Given the description of an element on the screen output the (x, y) to click on. 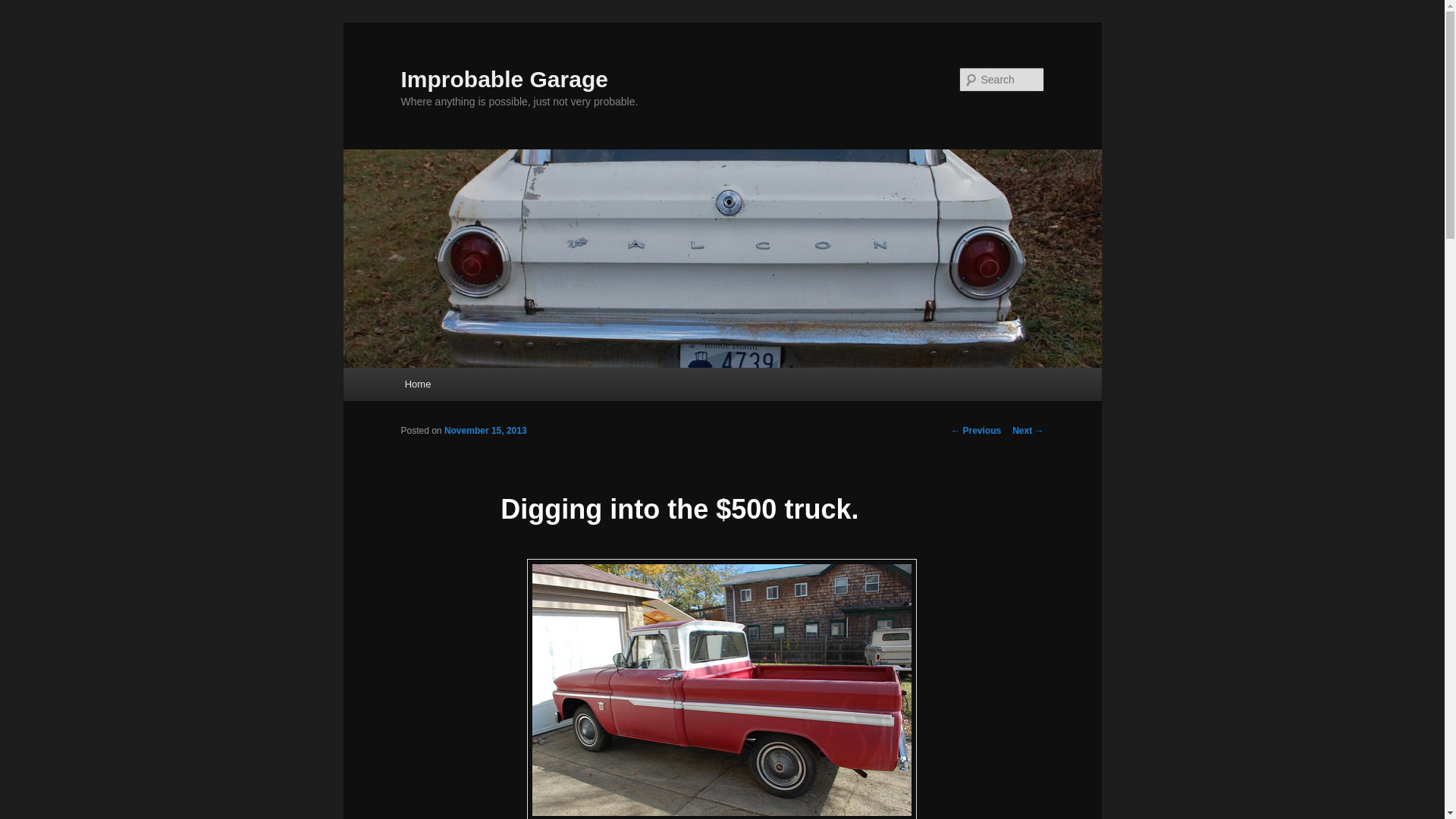
8:04 pm (485, 430)
Search (24, 8)
November 15, 2013 (485, 430)
Improbable Garage (503, 78)
Home (417, 383)
